Given the description of an element on the screen output the (x, y) to click on. 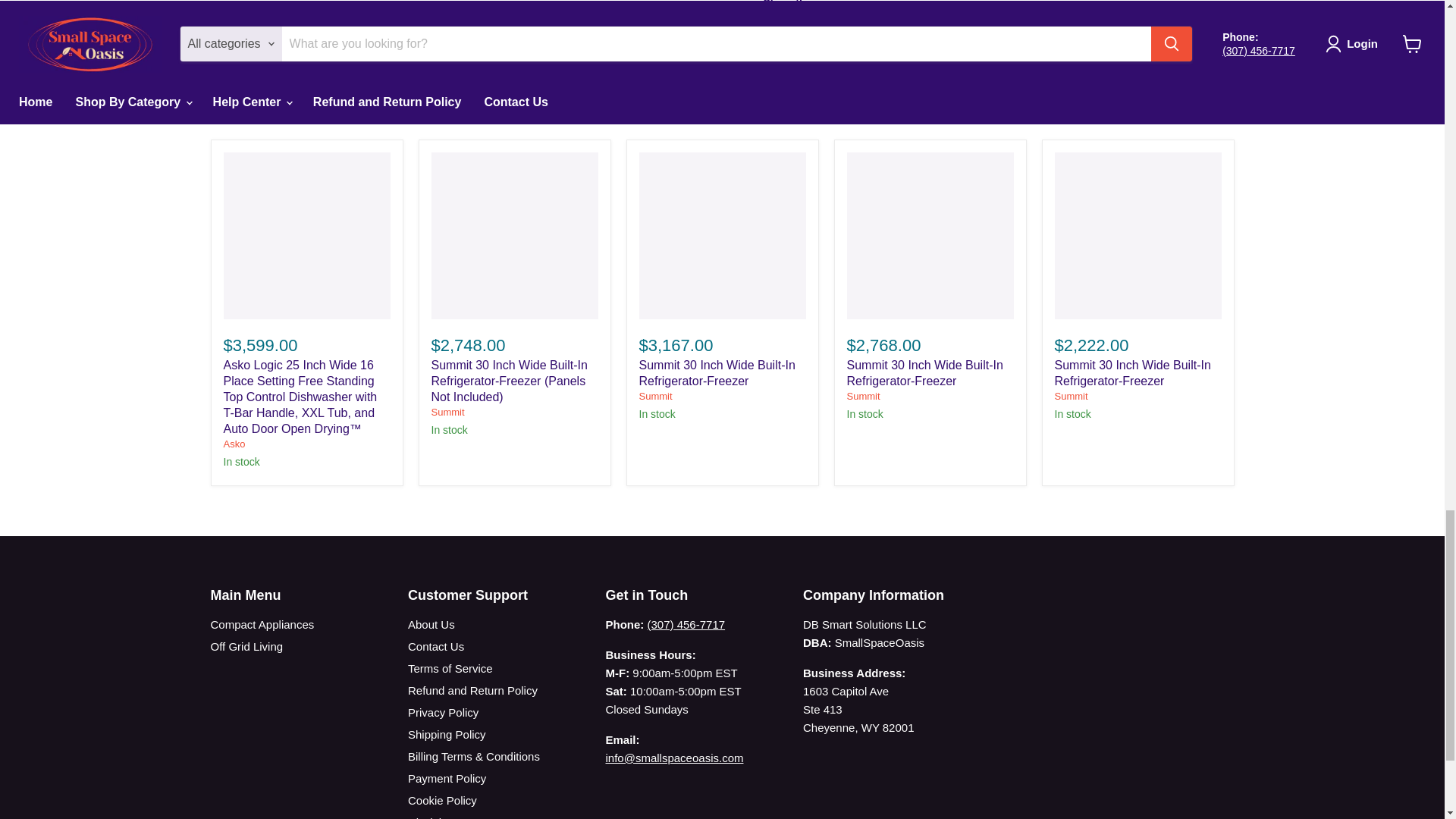
Summit (655, 396)
Asko (233, 443)
Summit (1070, 396)
Summit (447, 411)
Summit (862, 396)
